Given the description of an element on the screen output the (x, y) to click on. 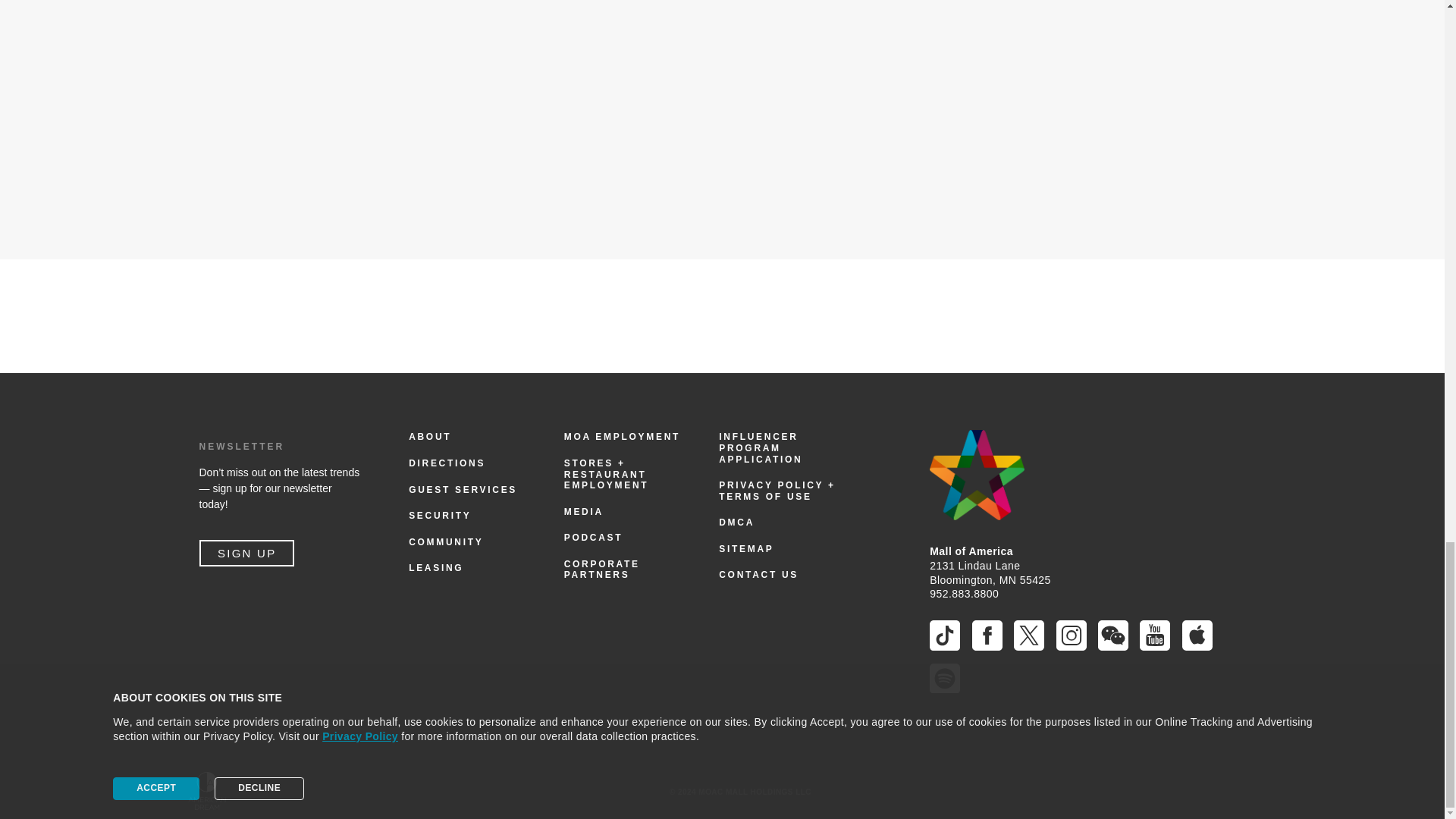
MoA-Social-Media-Facebook (987, 634)
MoA-Social-Media-WeChat (1112, 634)
MoA-Social-Media-You-Tube (1155, 634)
MoA-Social-Media-Instagram (1071, 634)
